Given the description of an element on the screen output the (x, y) to click on. 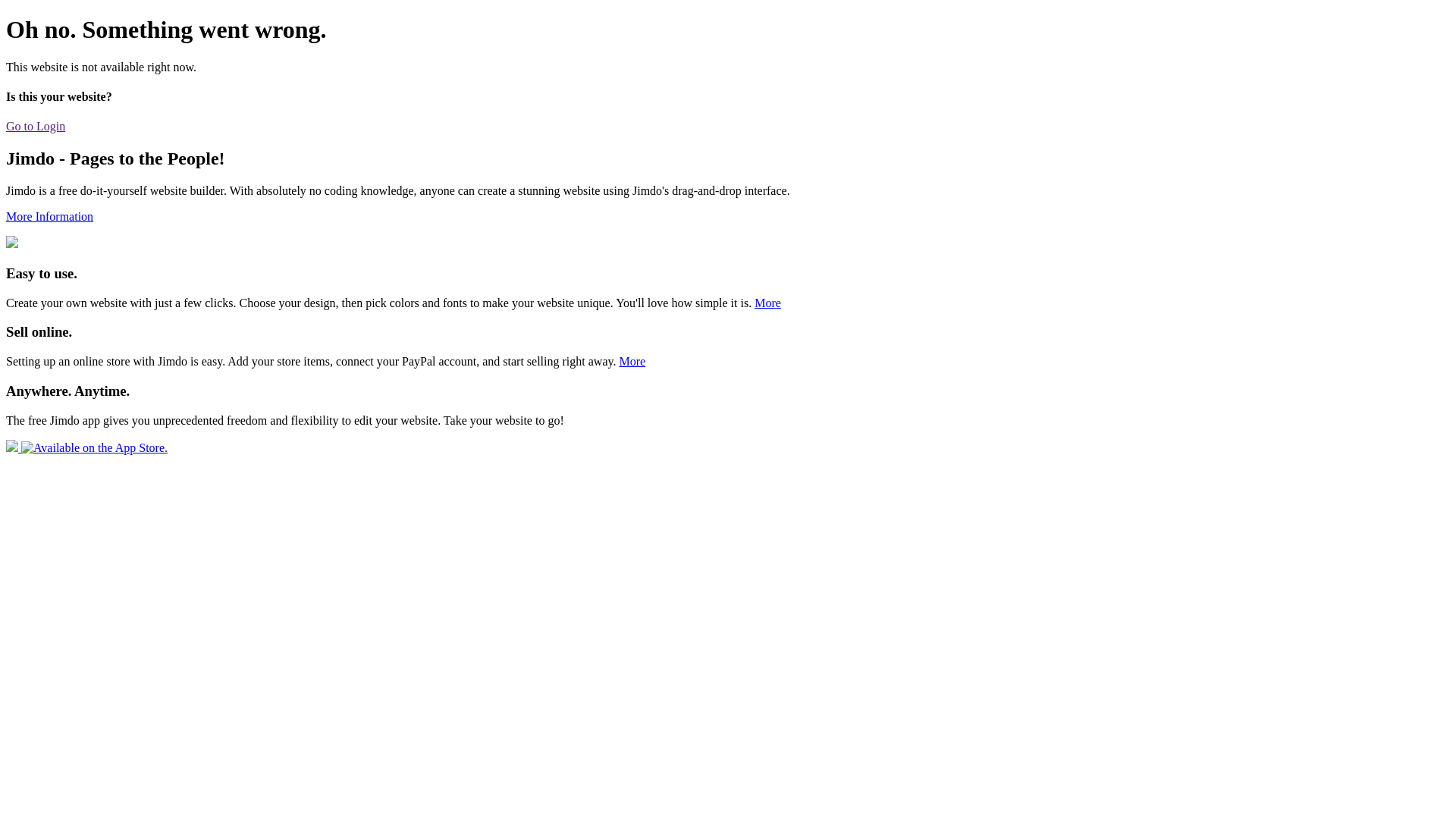
Available on the App Store. Element type: hover (86, 447)
More Information Element type: text (49, 216)
More Element type: text (767, 302)
More Element type: text (631, 360)
Go to Login Element type: text (35, 125)
